Given the description of an element on the screen output the (x, y) to click on. 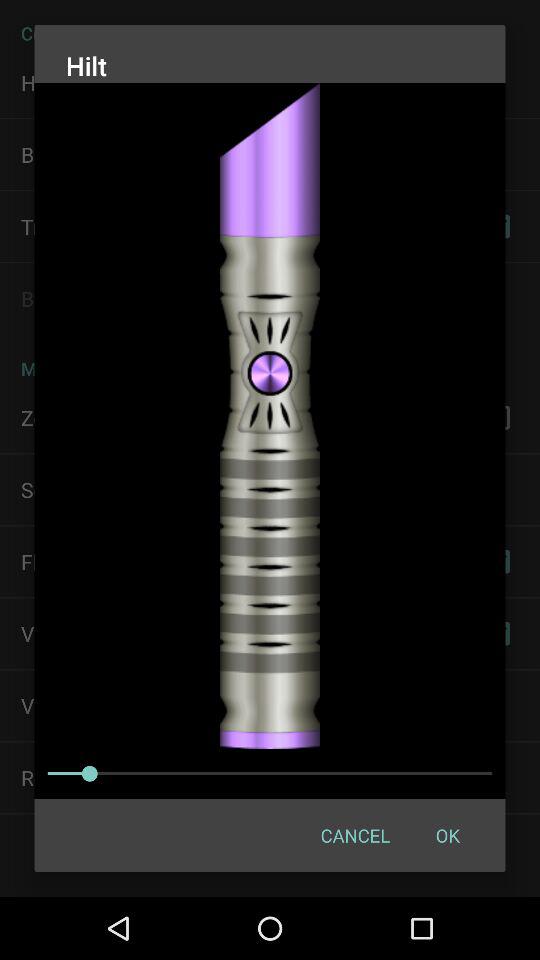
tap icon to the left of the ok (354, 834)
